Given the description of an element on the screen output the (x, y) to click on. 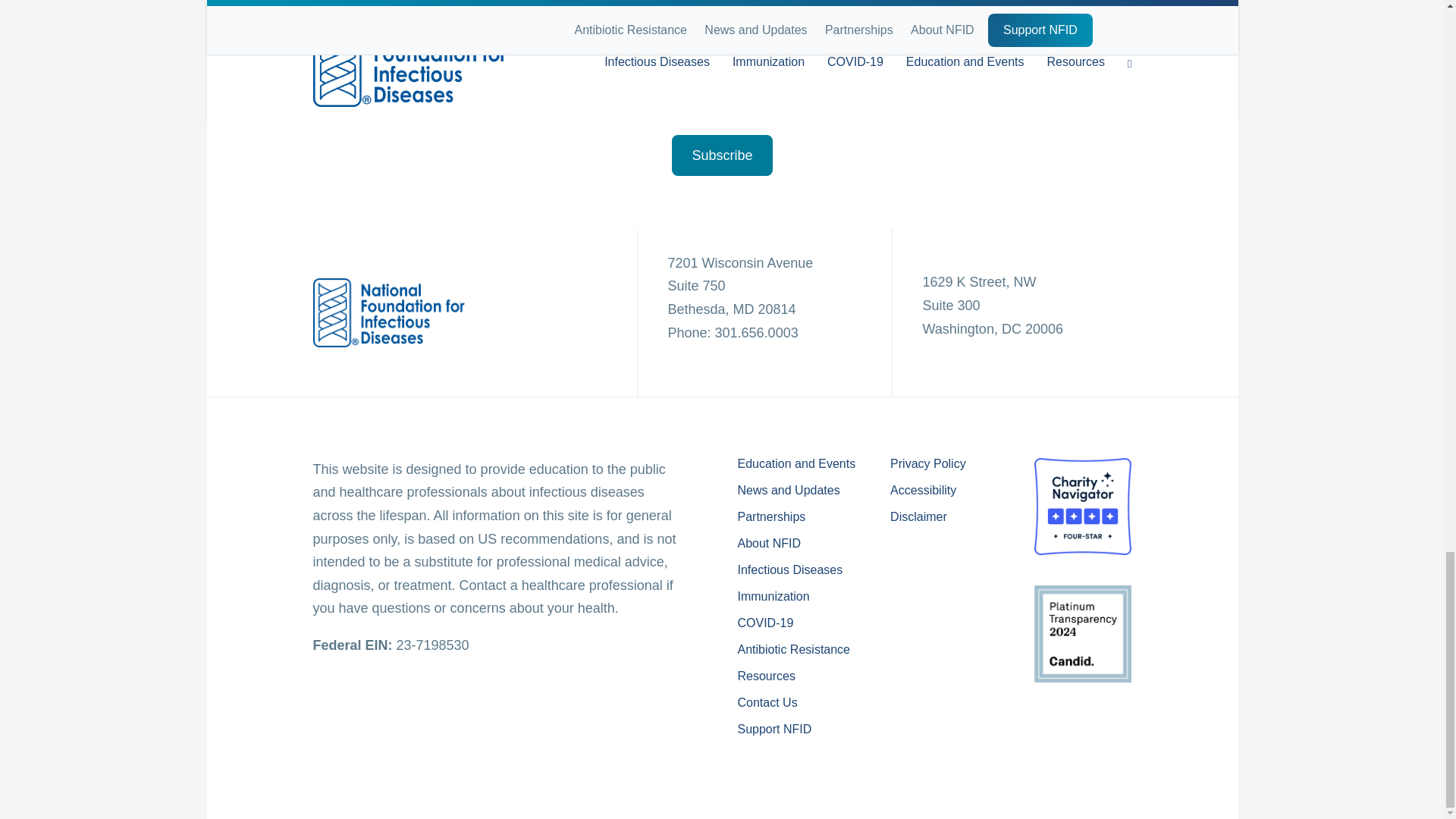
candid-seal-platinum-2024 (1082, 633)
vaccine-safety-net (1083, 750)
Four-Star Rating Badge - Full Color (1082, 506)
